Given the description of an element on the screen output the (x, y) to click on. 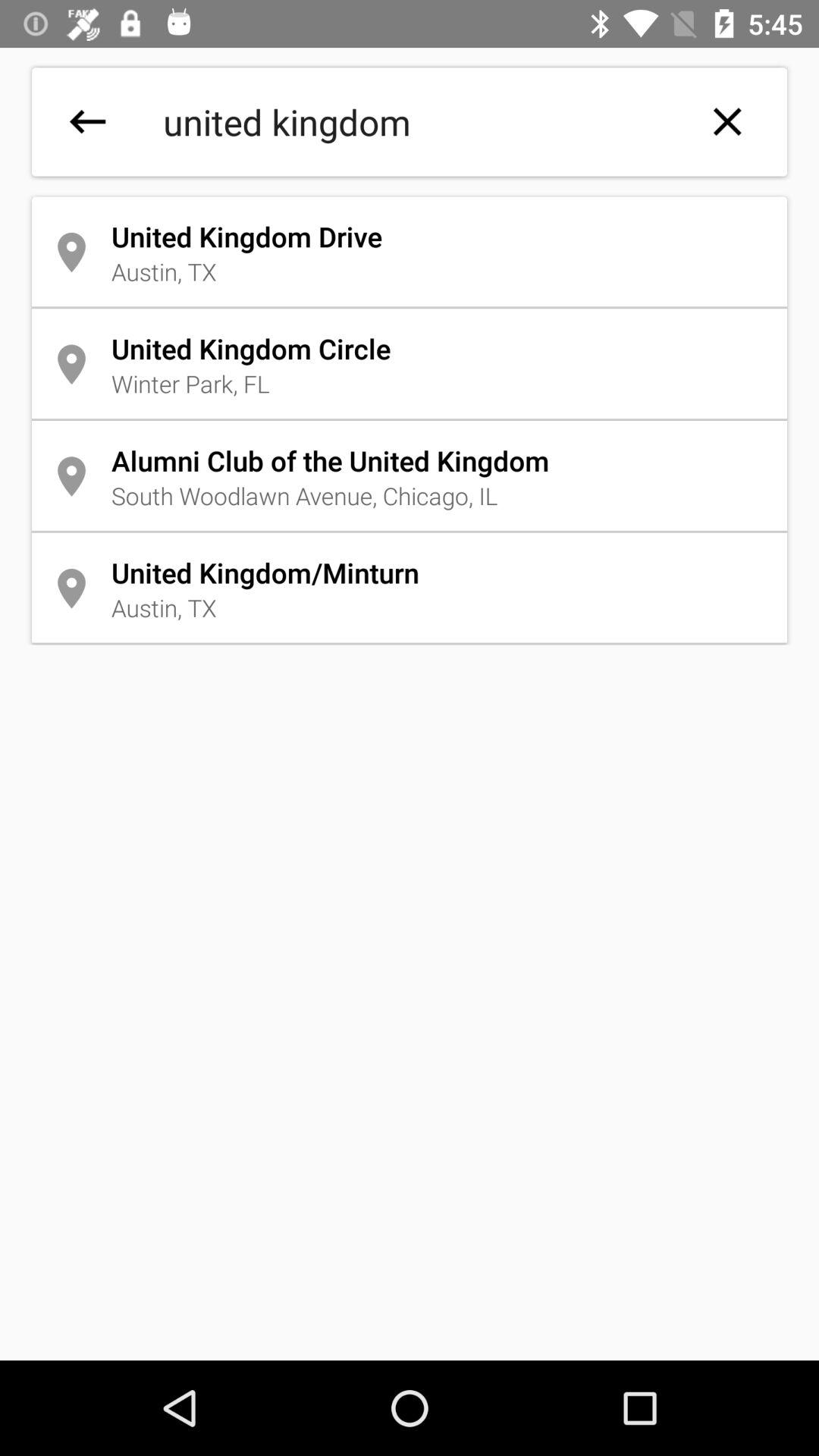
go back (87, 121)
